Given the description of an element on the screen output the (x, y) to click on. 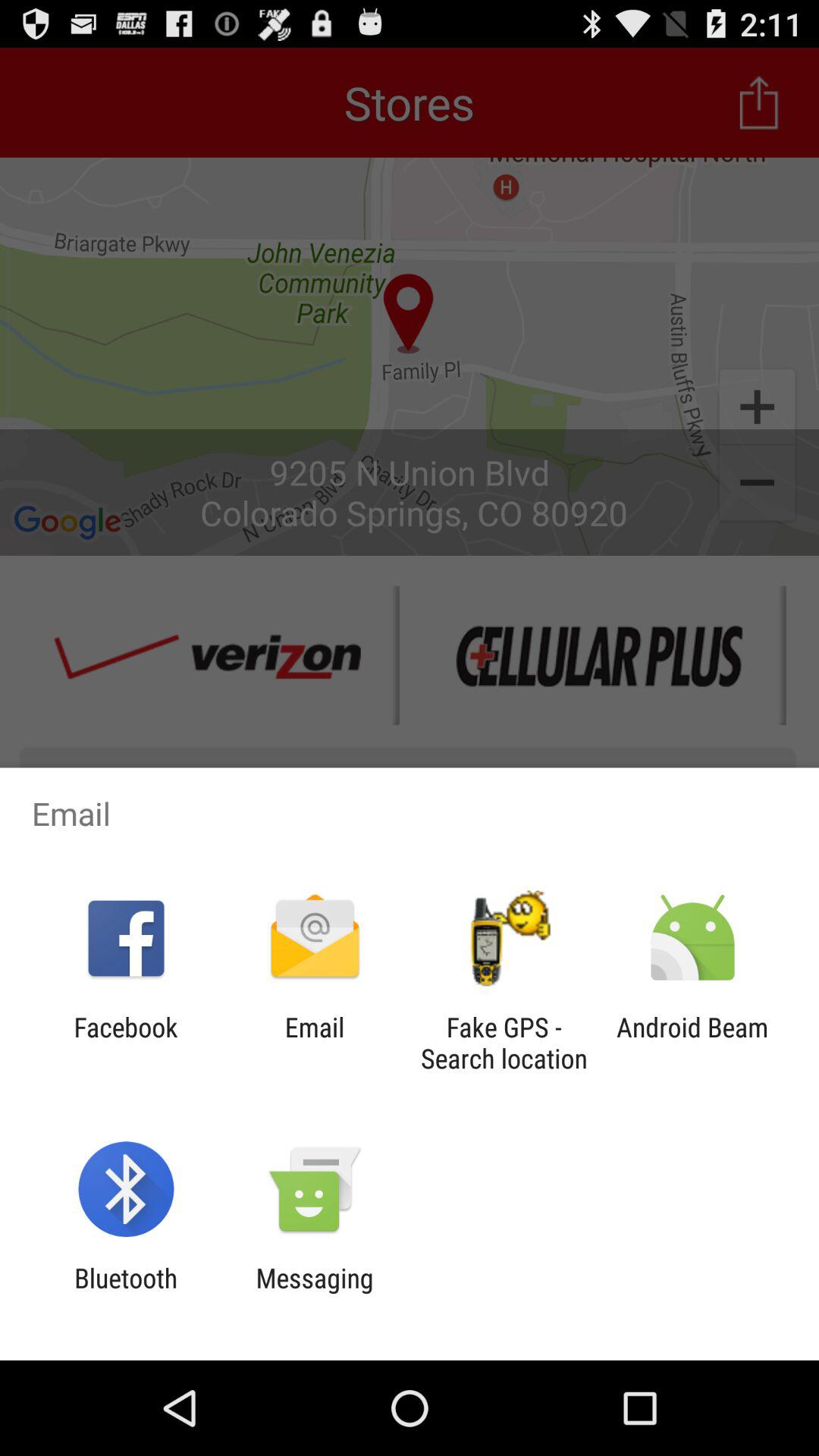
click the icon next to the email app (125, 1042)
